Given the description of an element on the screen output the (x, y) to click on. 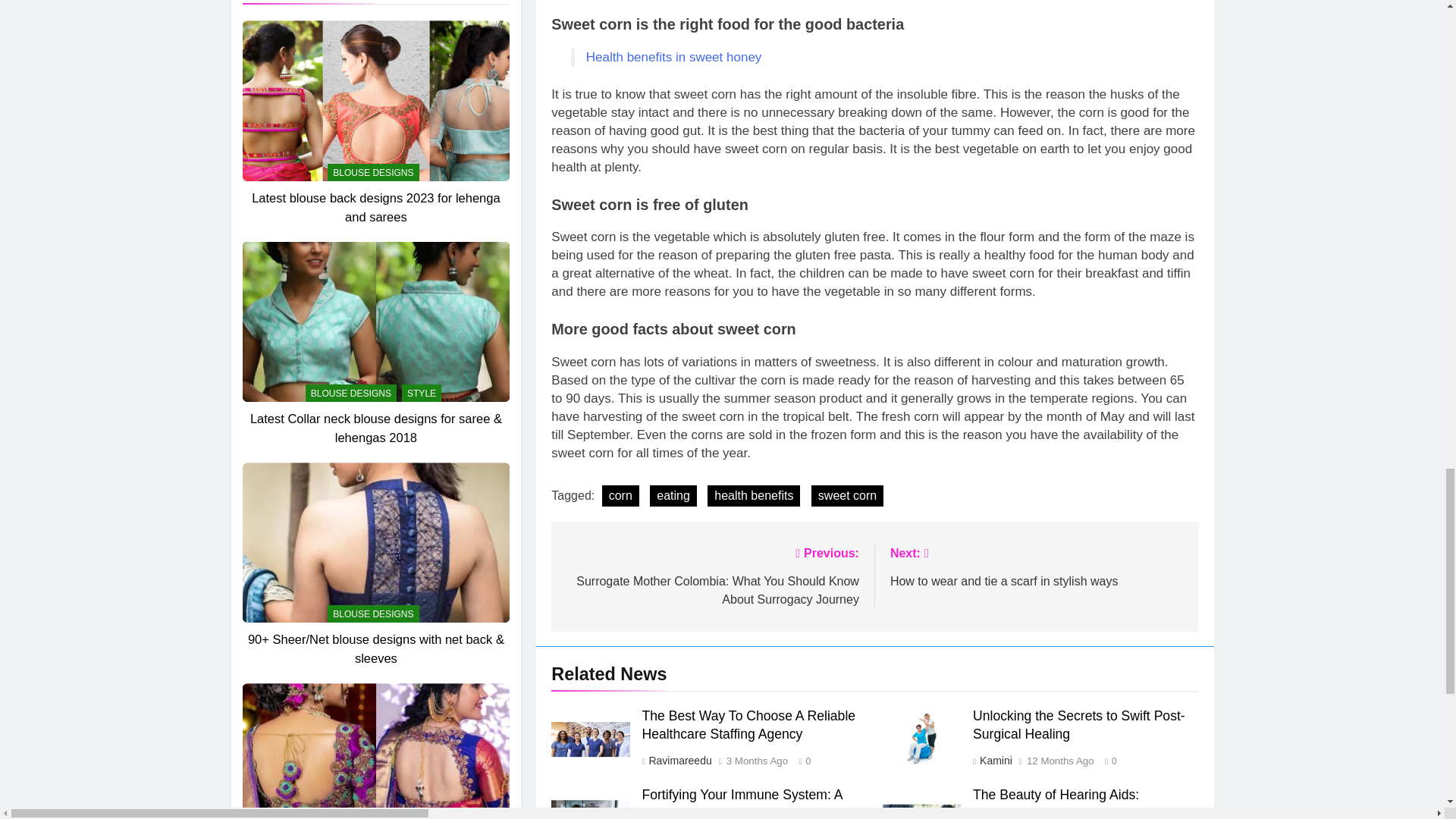
Health benefits in sweet honey (673, 56)
eating (673, 495)
health benefits (753, 495)
sweet corn (846, 495)
corn (620, 495)
